Given the description of an element on the screen output the (x, y) to click on. 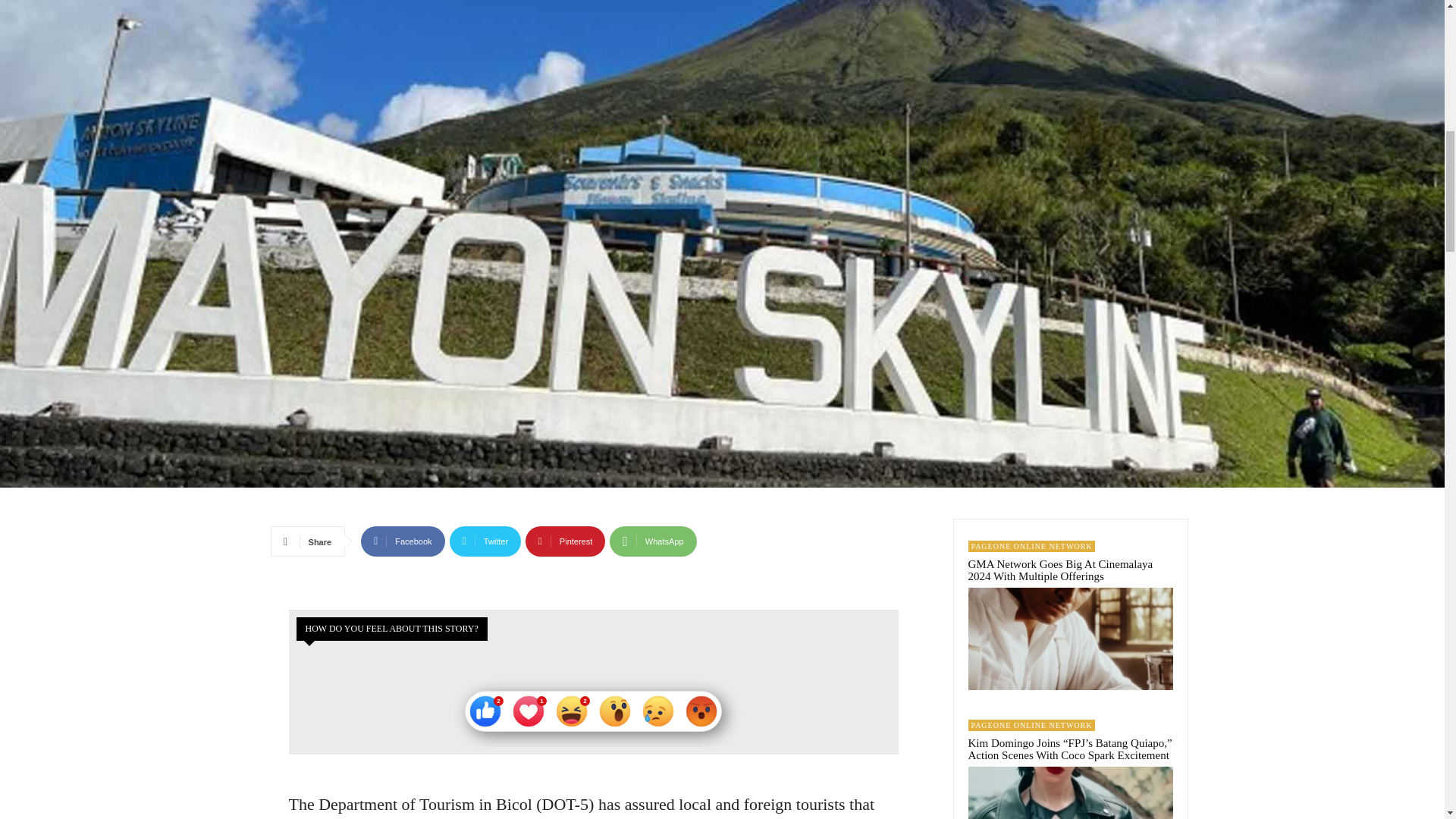
Twitter (485, 541)
Pinterest (565, 541)
WhatsApp (652, 541)
PAGEONE ONLINE NETWORK (1031, 546)
Facebook (402, 541)
WhatsApp (652, 541)
PAGEONE ONLINE NETWORK (1031, 725)
Facebook (402, 541)
Pinterest (565, 541)
Twitter (485, 541)
